Given the description of an element on the screen output the (x, y) to click on. 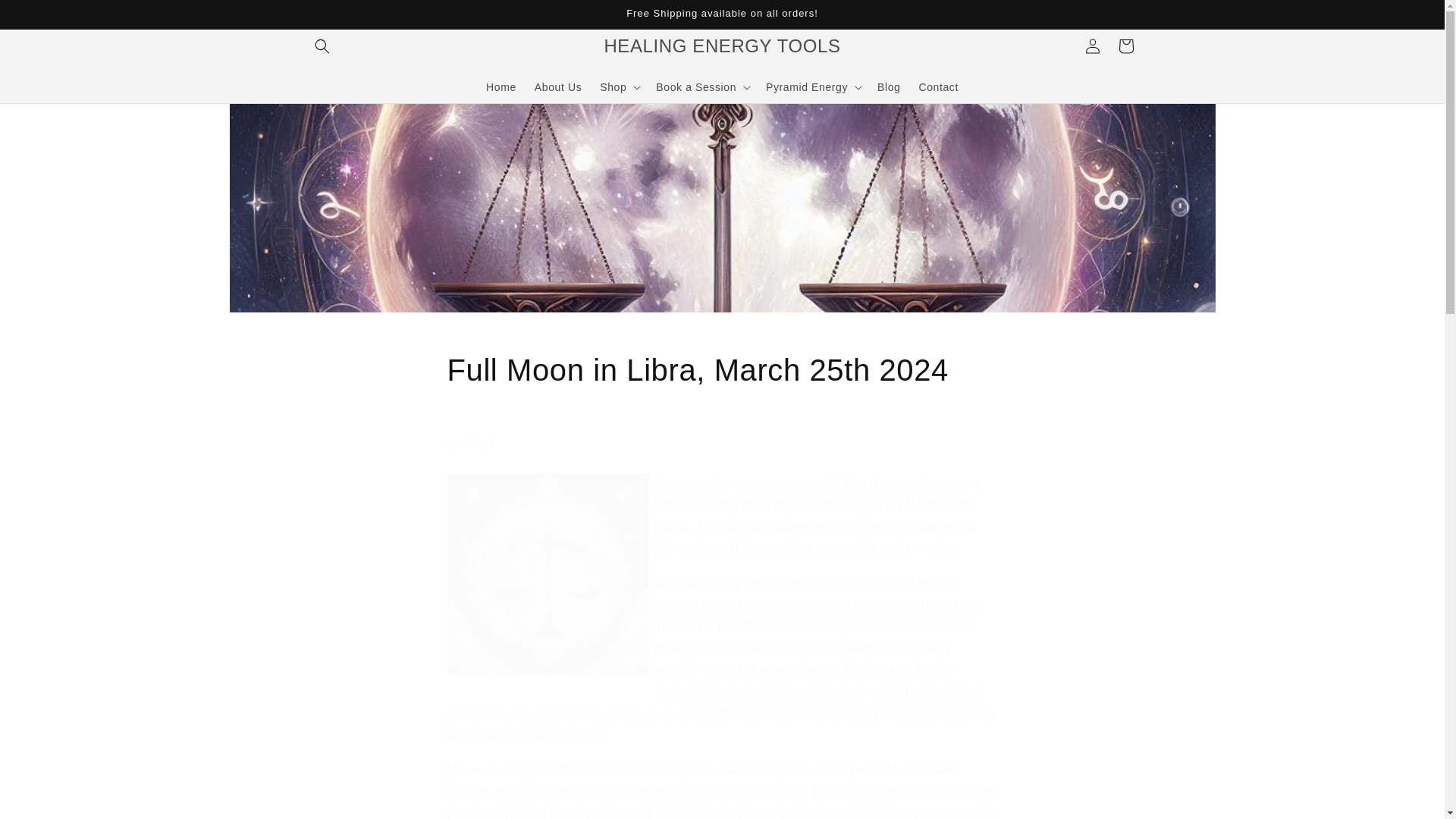
Full Moon in Libra, March 25th 2024 (721, 369)
Skip to content (45, 17)
Share (721, 444)
